Given the description of an element on the screen output the (x, y) to click on. 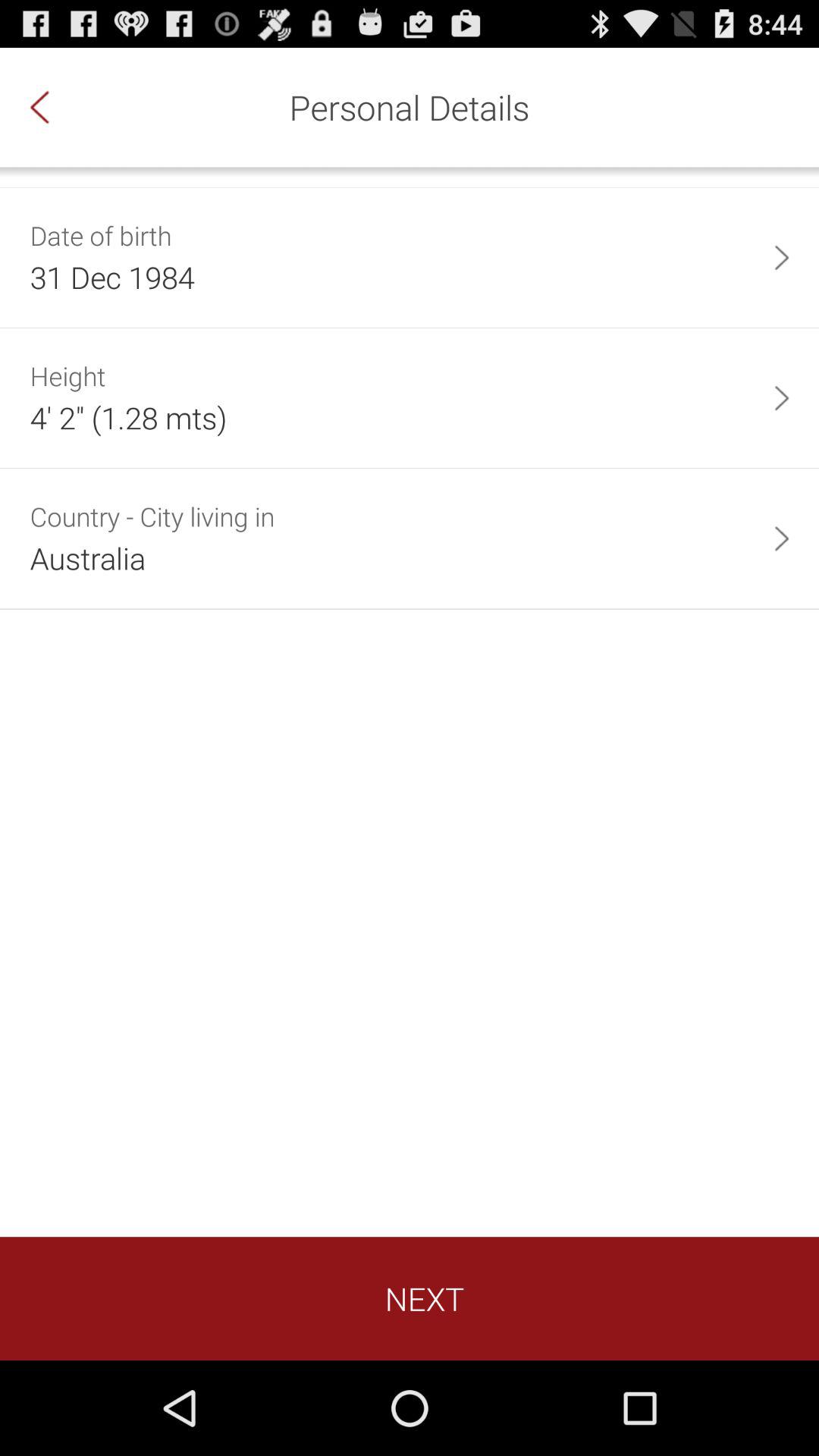
press item next to 31 dec 1984 app (781, 257)
